Given the description of an element on the screen output the (x, y) to click on. 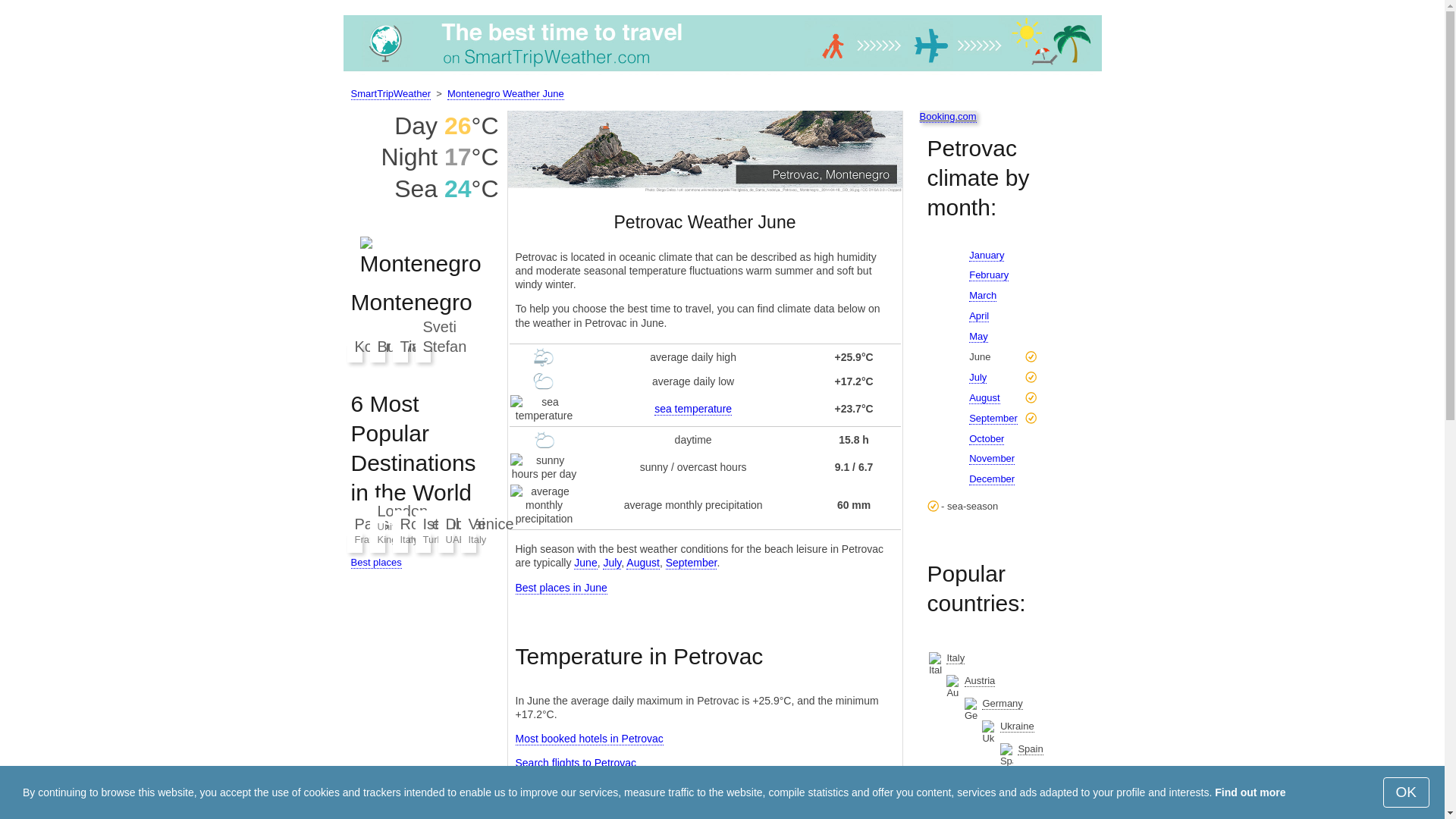
day temperature (543, 356)
August (642, 562)
September (691, 562)
SmartTripWeather (721, 70)
SmartTripWeather (389, 93)
Spain (1029, 748)
Search flights to Petrovac (576, 762)
day length (544, 439)
sea temperature (692, 408)
night temperature (543, 381)
June (584, 562)
Most booked hotels in Petrovac (589, 738)
Weather (389, 93)
Petrovac (705, 150)
Italy (954, 657)
